Given the description of an element on the screen output the (x, y) to click on. 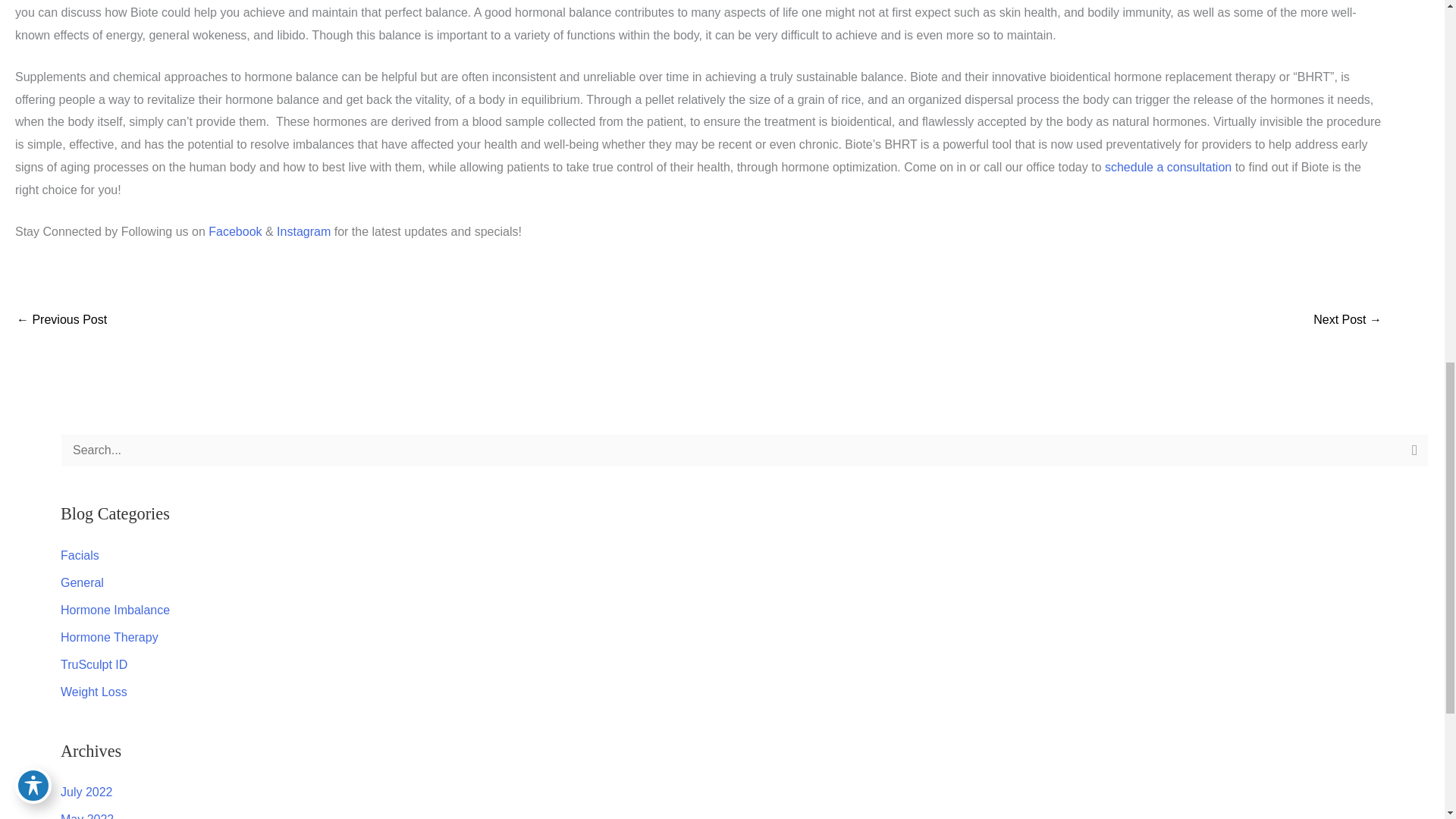
Body Contouring (1347, 320)
